Given the description of an element on the screen output the (x, y) to click on. 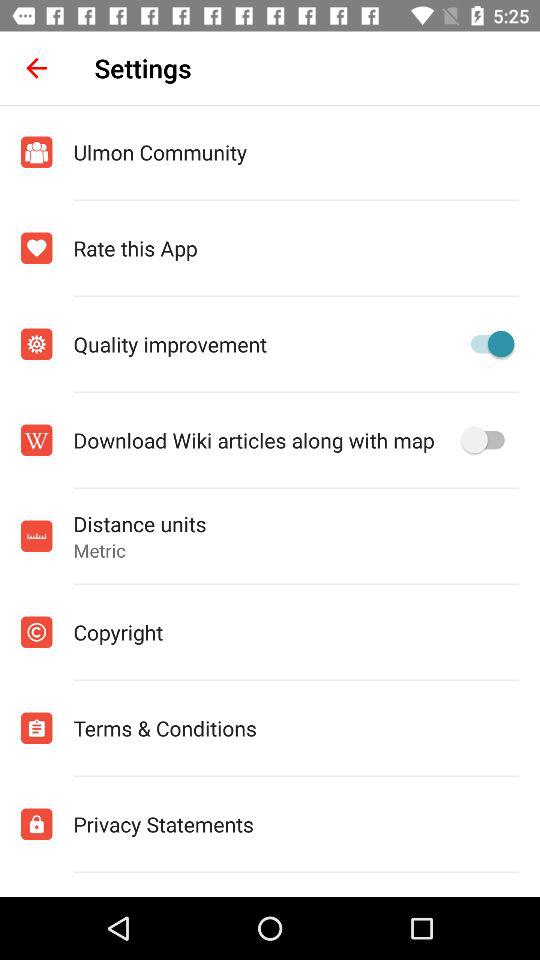
toggle quality improvement option (487, 343)
